Given the description of an element on the screen output the (x, y) to click on. 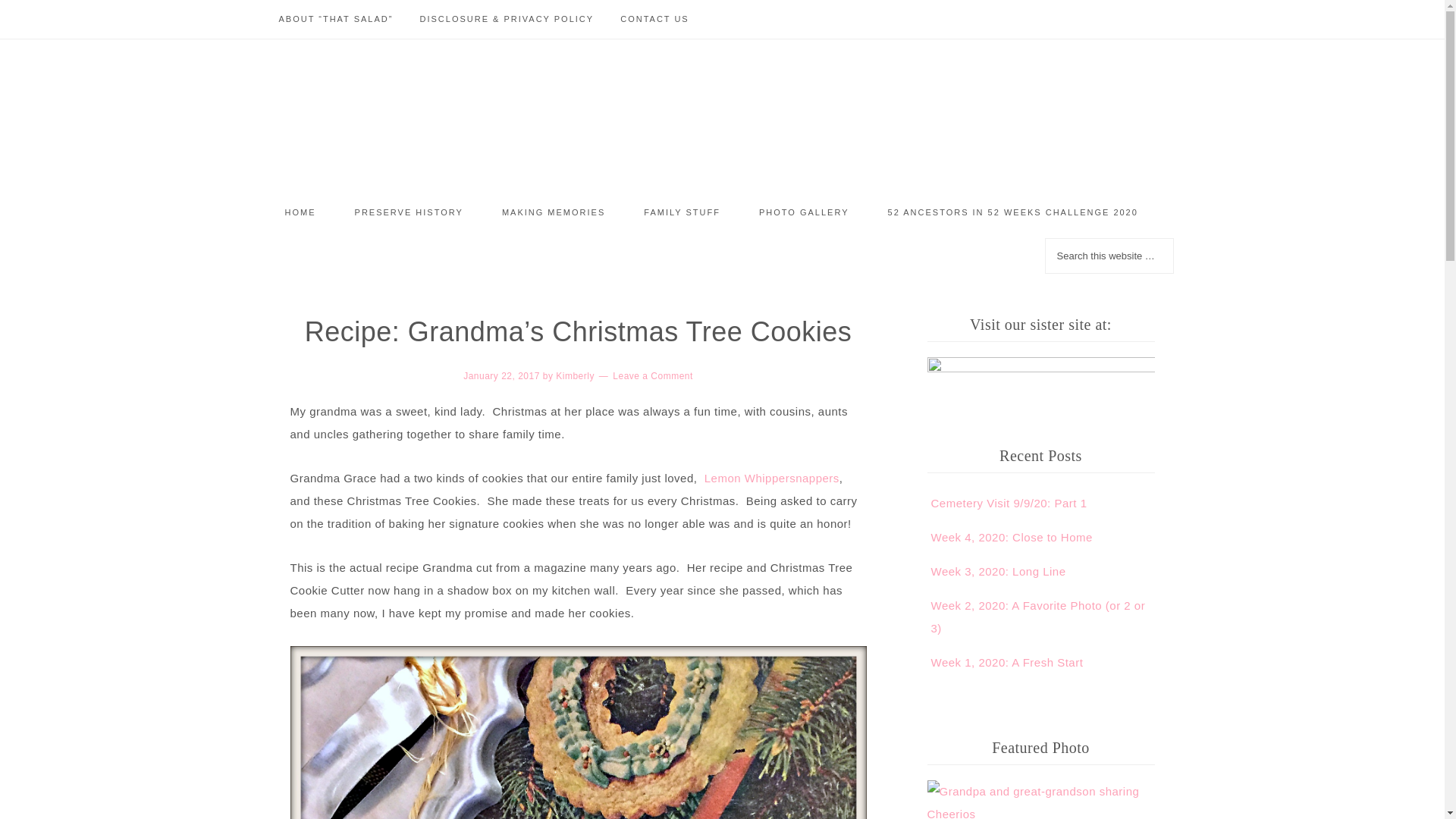
Leave a Comment (652, 376)
PHOTO GALLERY (803, 212)
Visit our sister site at: (1040, 371)
MAKING MEMORIES (553, 212)
FAMILY STUFF (682, 212)
Lemon Whippersnappers (772, 477)
52 ANCESTORS IN 52 WEEKS CHALLENGE 2020 (1013, 212)
Kimberly (575, 376)
